Given the description of an element on the screen output the (x, y) to click on. 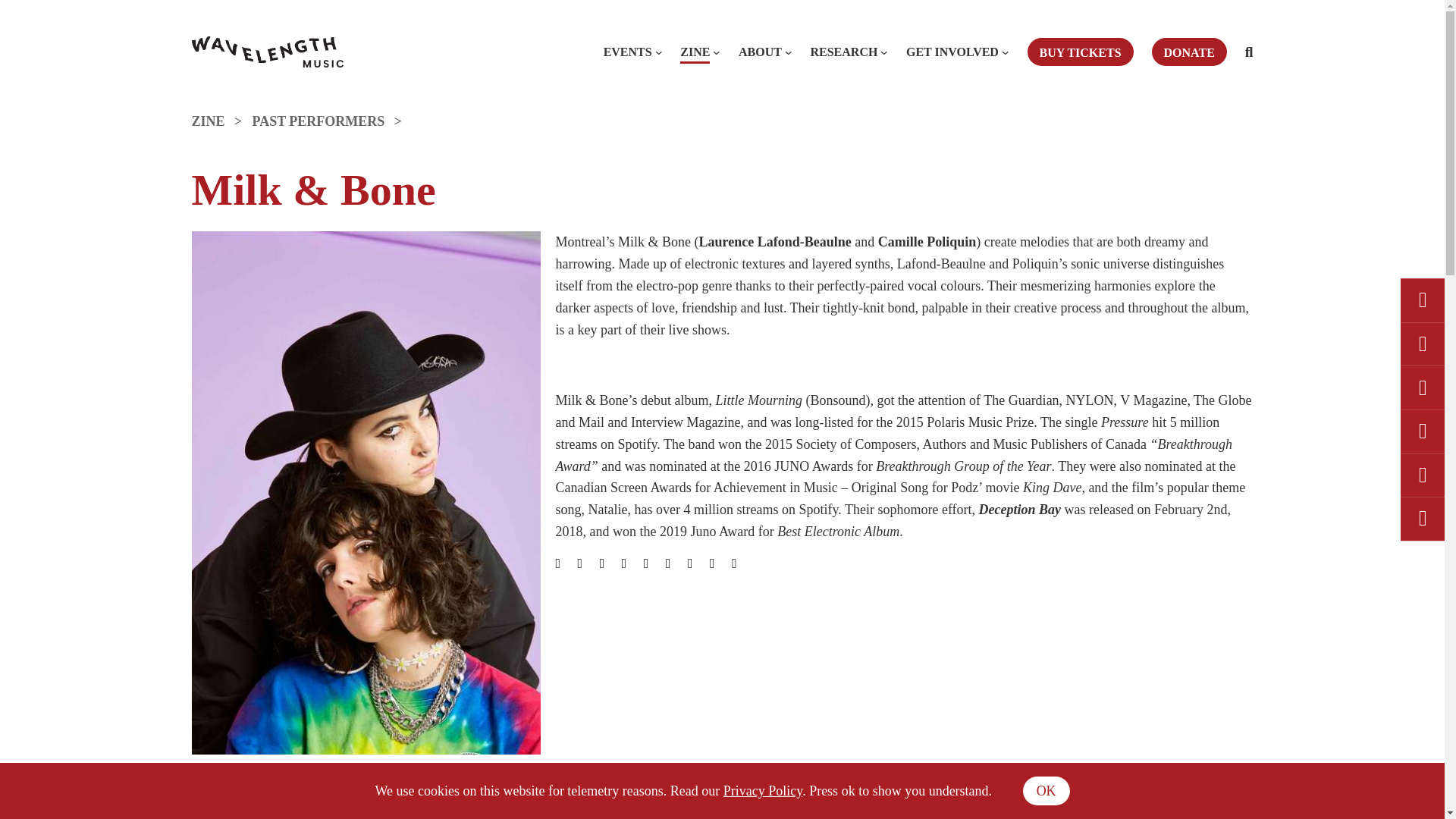
ZINE (220, 121)
ABOUT (759, 52)
PAST PERFORMERS (331, 121)
Welcome to Wavelength Music (266, 51)
ZINE (694, 52)
Past Performers (331, 121)
DONATE (1189, 51)
GET INVOLVED (951, 52)
EVENTS (628, 52)
Zine (220, 121)
RESEARCH (843, 52)
BUY TICKETS (1080, 51)
